Given the description of an element on the screen output the (x, y) to click on. 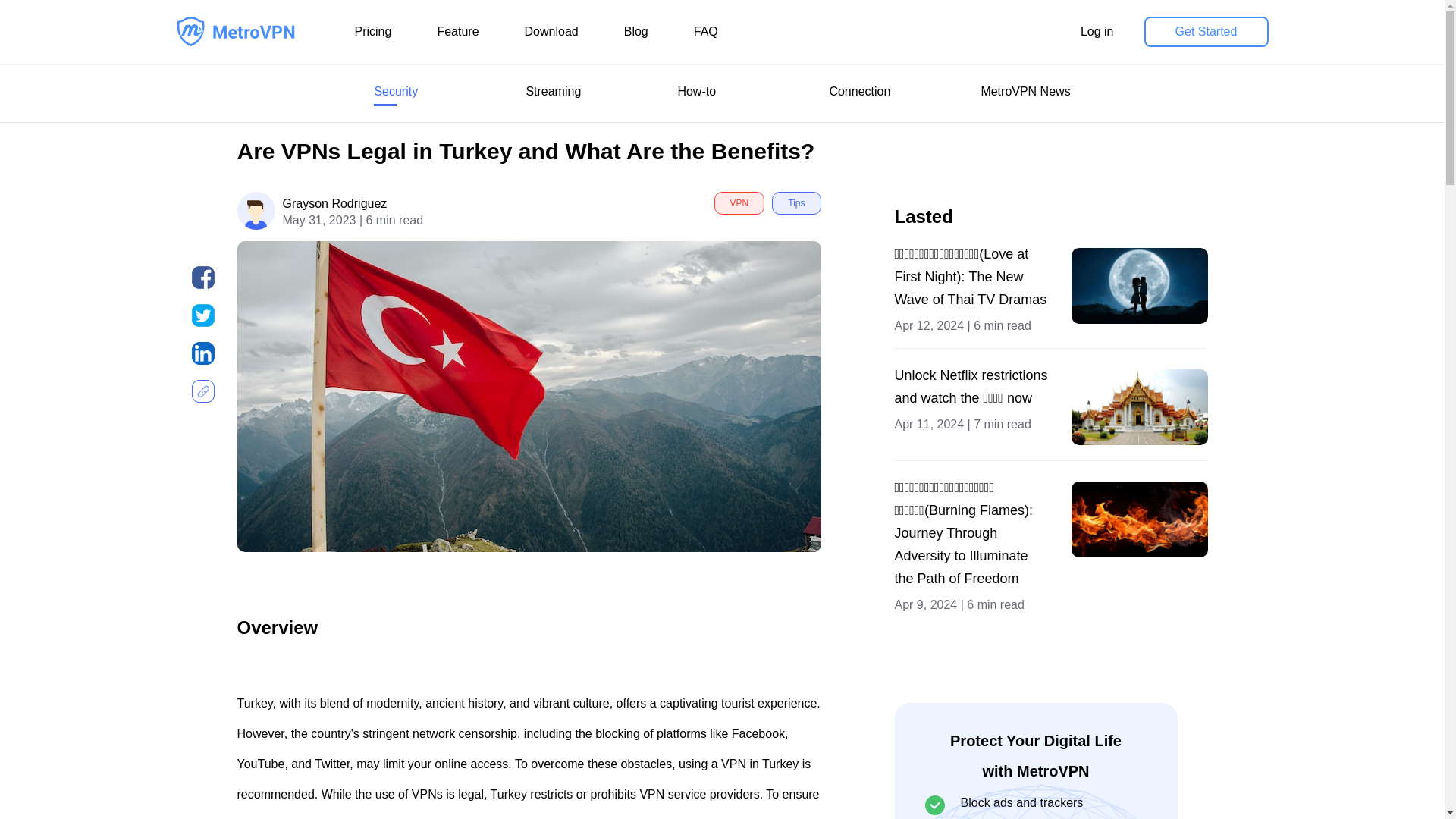
Download (551, 31)
Pricing (373, 31)
Log in (1096, 31)
FAQ (705, 31)
Blog (635, 31)
Get Started (1205, 31)
Feature (457, 31)
